Given the description of an element on the screen output the (x, y) to click on. 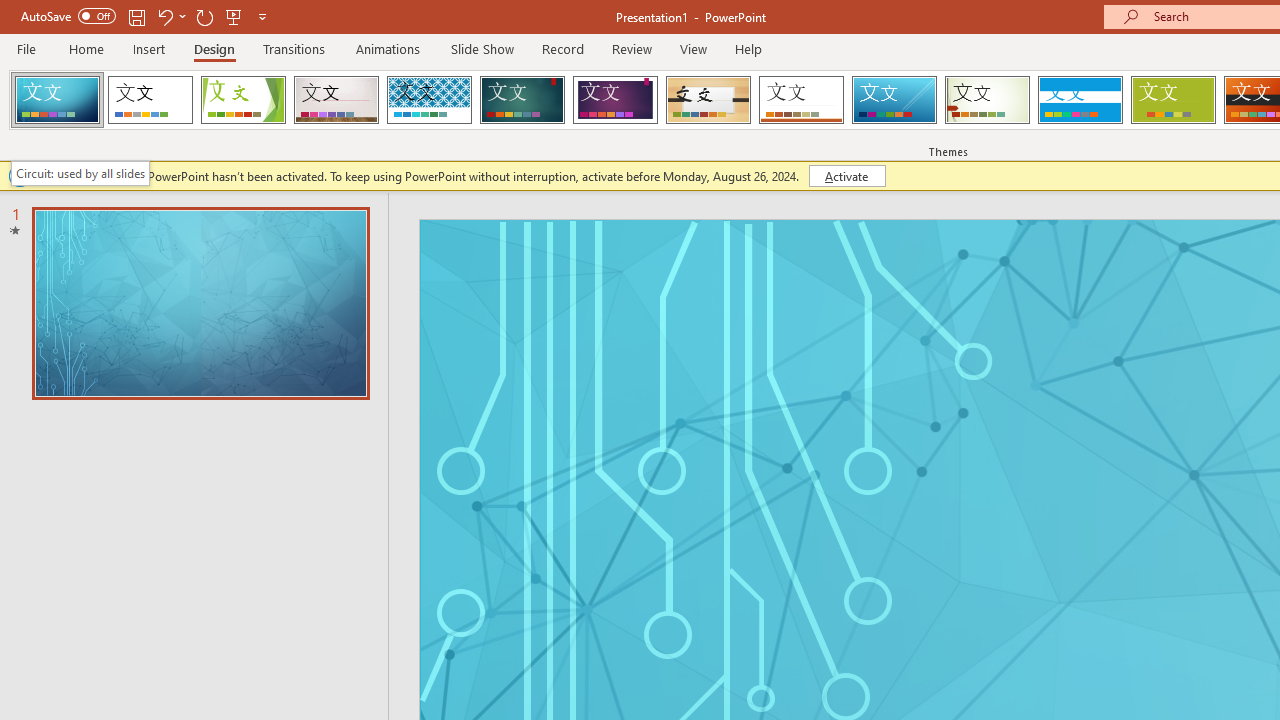
Wisp (987, 100)
Ion (522, 100)
Integral (429, 100)
